Given the description of an element on the screen output the (x, y) to click on. 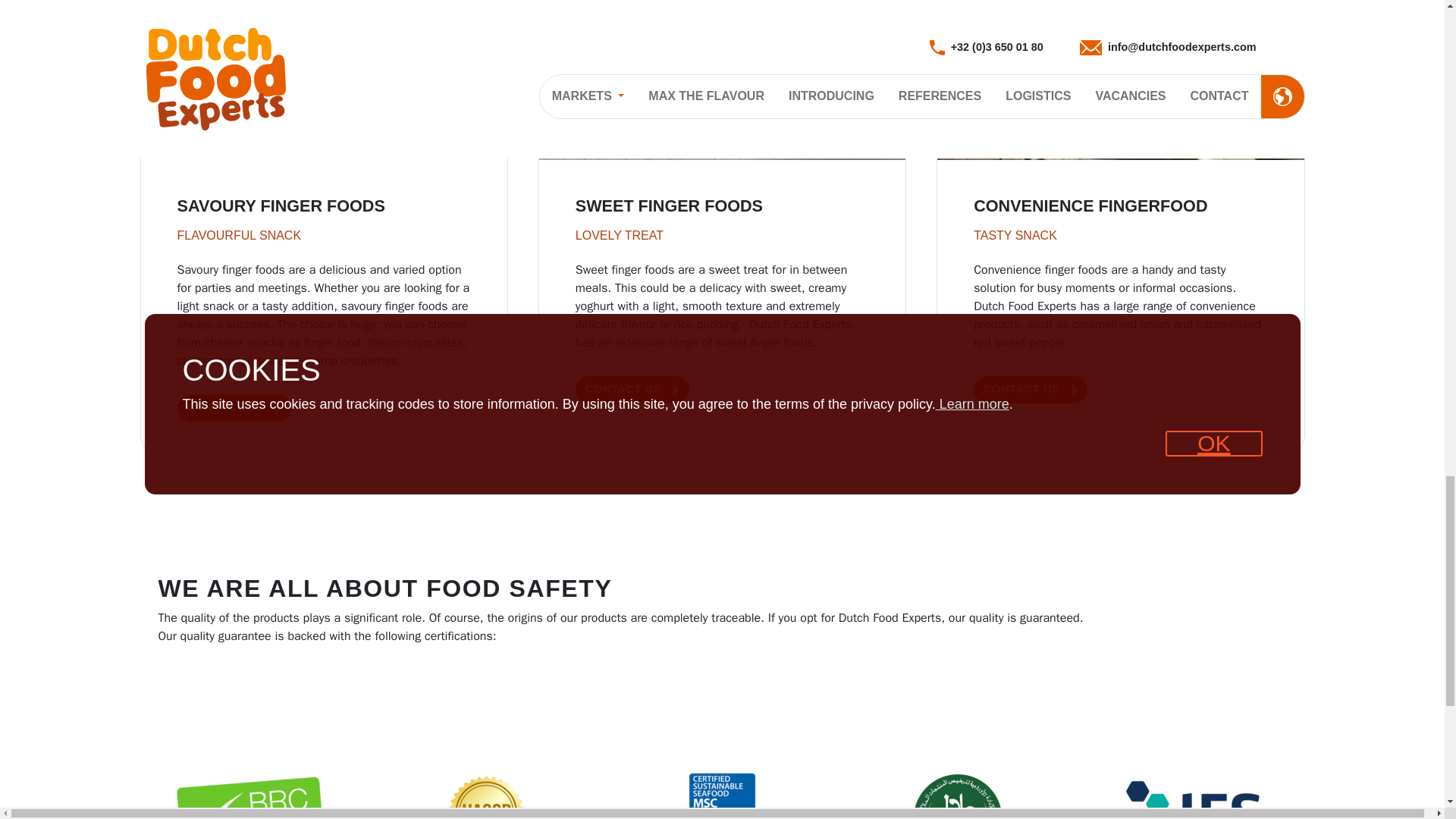
CONTACT US (1030, 389)
CONTACT US (234, 407)
CONTACT US (631, 389)
